Given the description of an element on the screen output the (x, y) to click on. 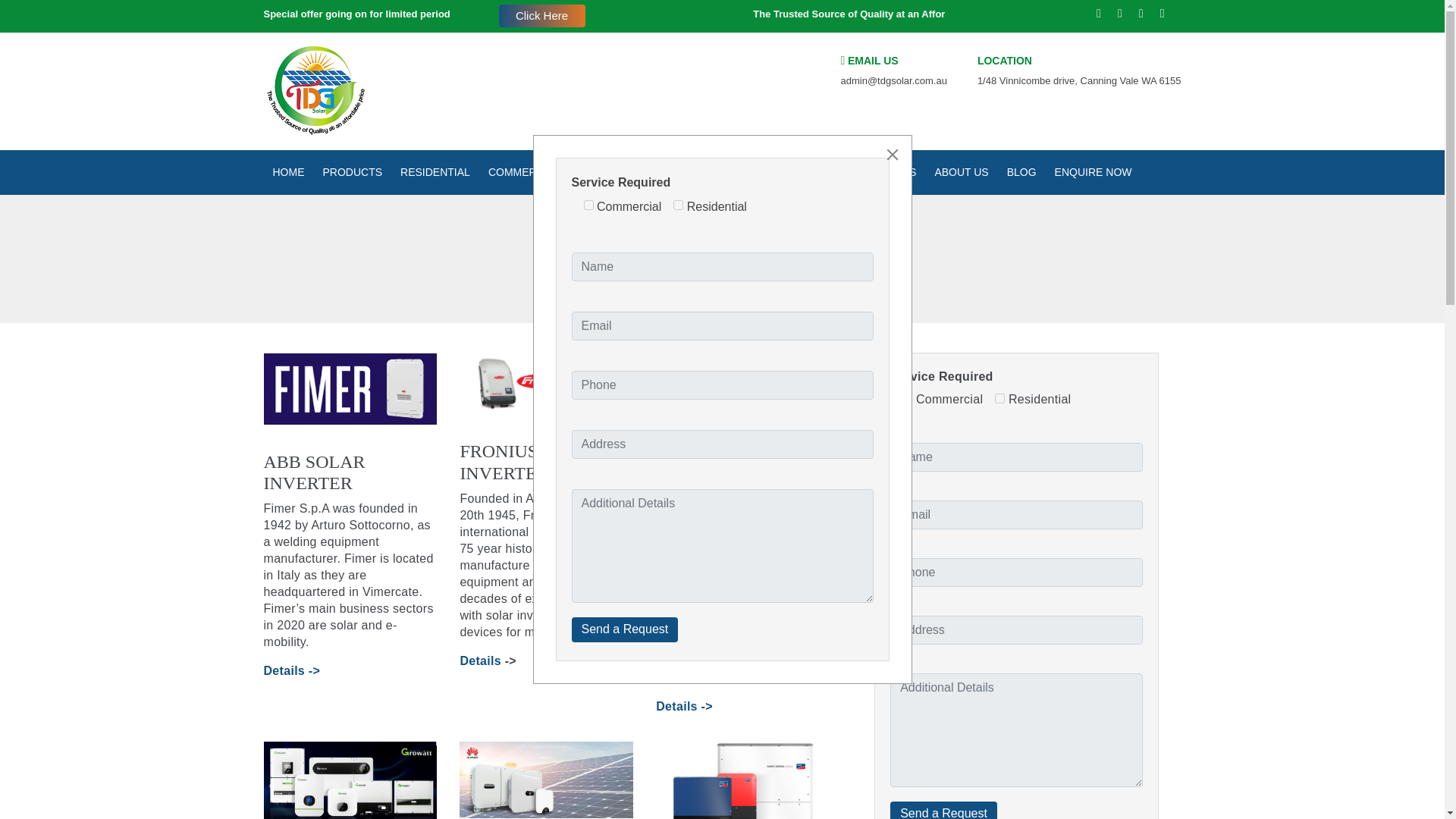
Click Here (542, 15)
Home (659, 280)
Seattle Locksmith (314, 91)
Residential (999, 398)
COMMERCIAL (524, 171)
SALES PROCESS (759, 171)
PRODUCTS (352, 171)
ABOUT US (960, 171)
Send a Request (625, 629)
The Trusted Source of Quality at an Affordable Price. (799, 16)
HOME (288, 171)
ENQUIRE NOW (1093, 171)
OTHER SERVICES (868, 171)
RESIDENTIAL (435, 171)
Residential (677, 204)
